Given the description of an element on the screen output the (x, y) to click on. 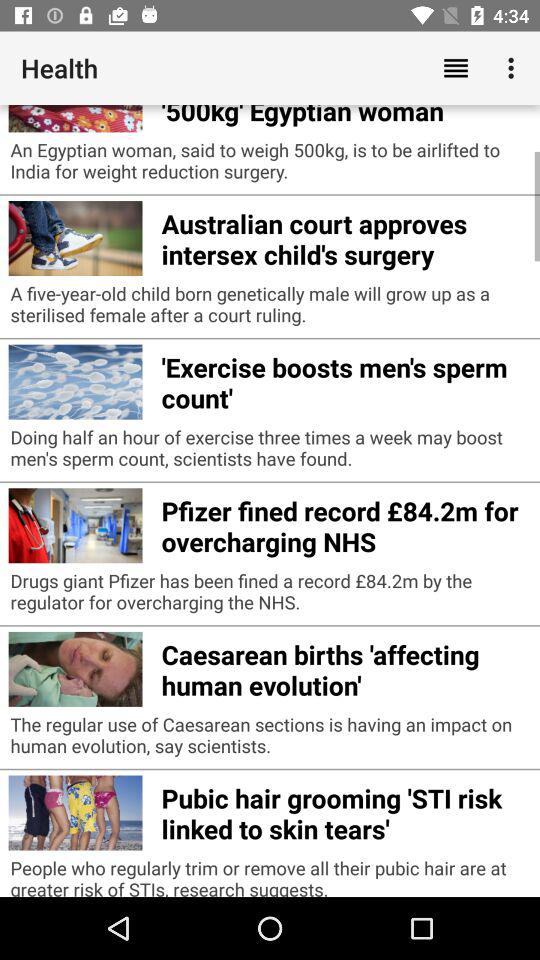
select the people who regularly (270, 875)
